Given the description of an element on the screen output the (x, y) to click on. 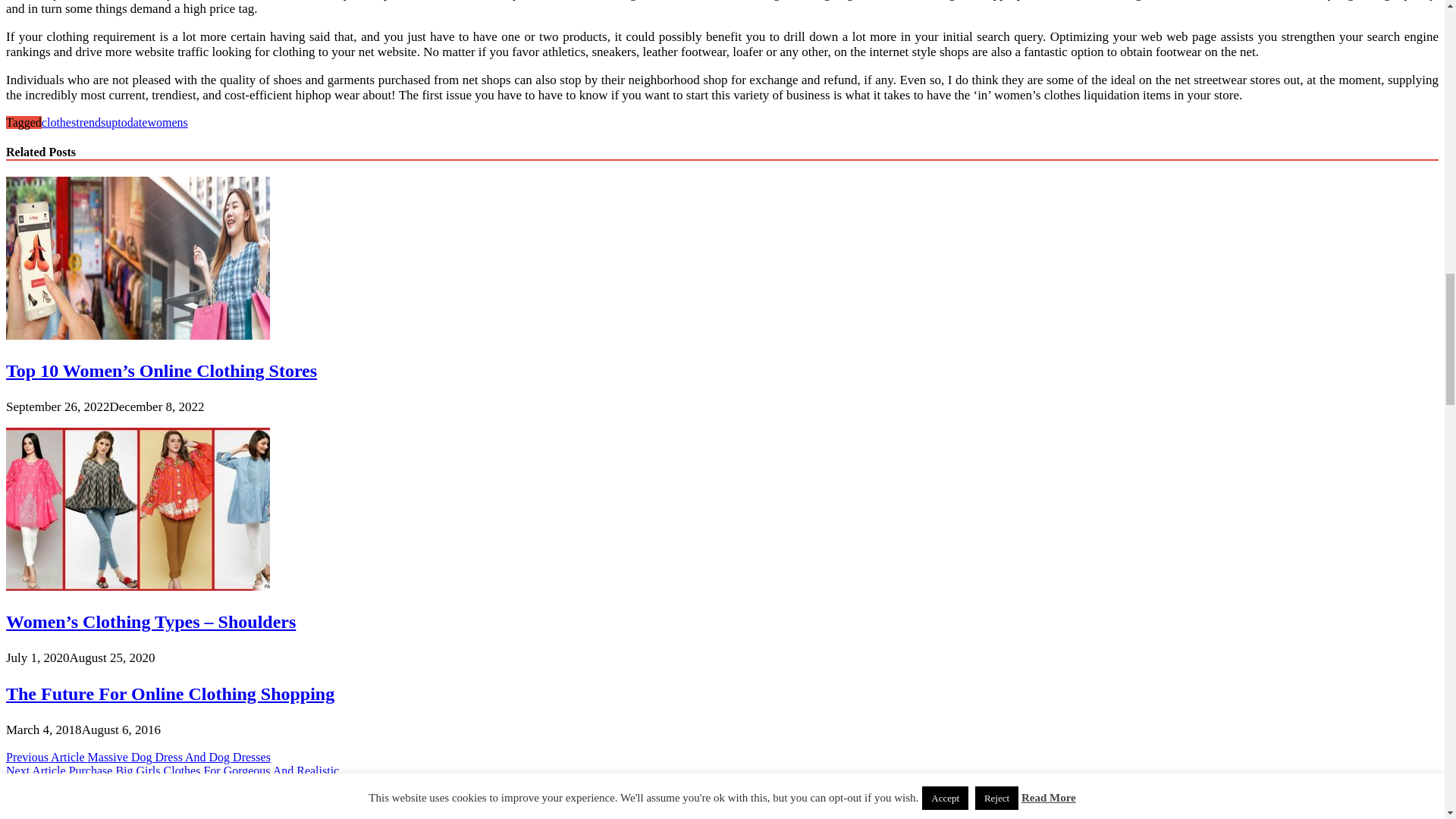
The Future For Online Clothing Shopping (169, 693)
